Given the description of an element on the screen output the (x, y) to click on. 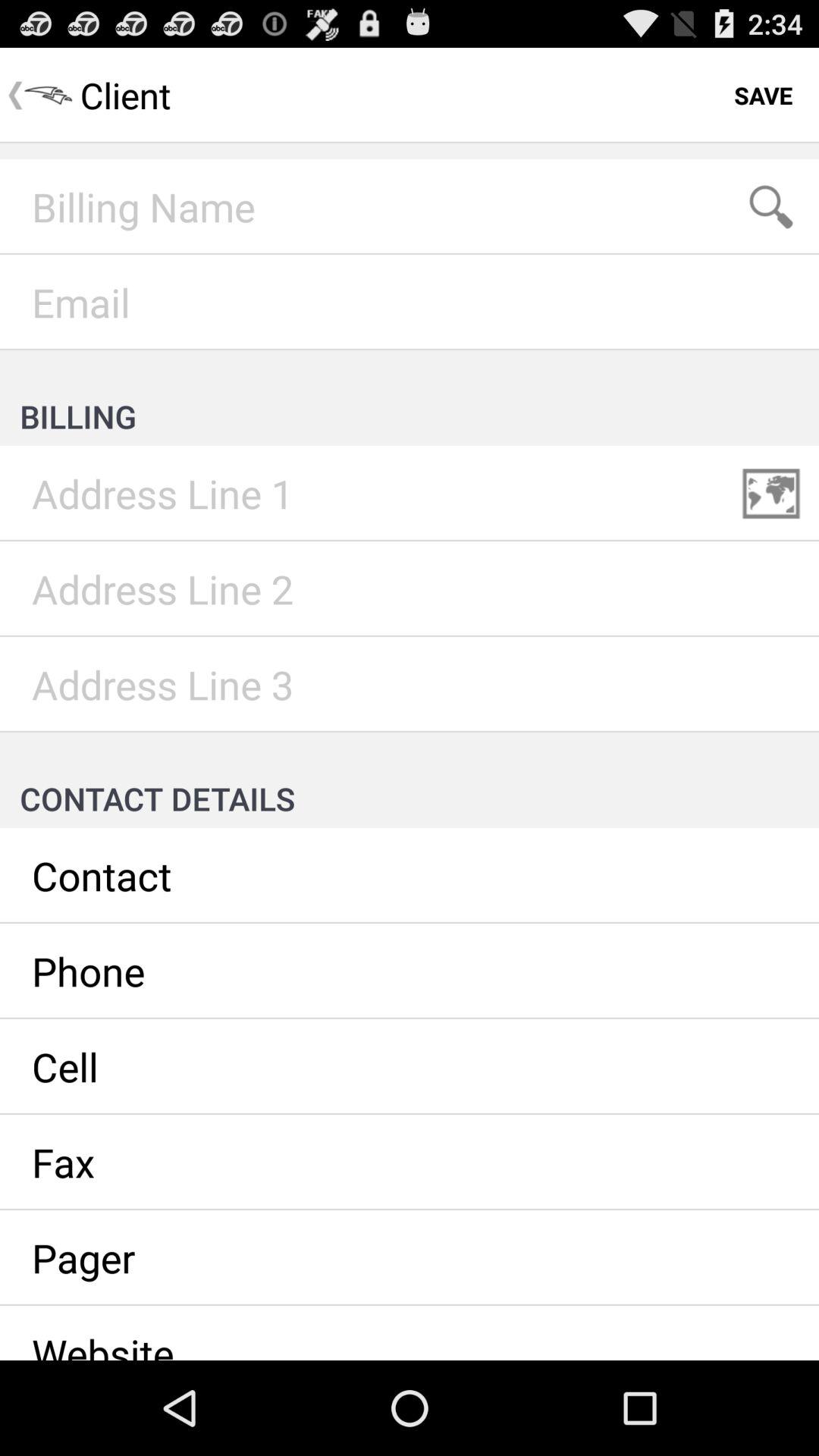
search button (771, 206)
